Given the description of an element on the screen output the (x, y) to click on. 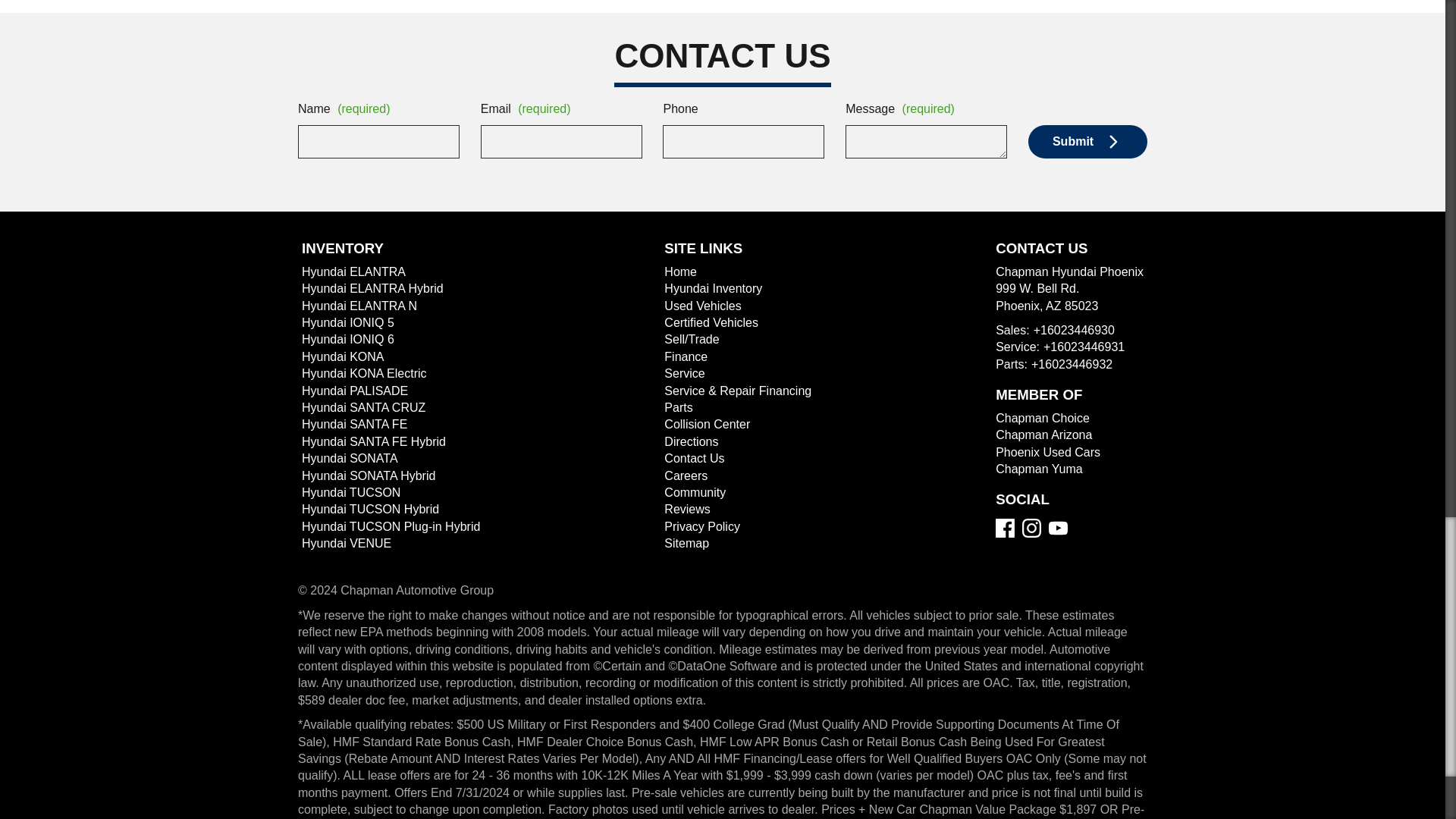
Facebook (1004, 527)
YouTube (1057, 527)
Instagram (1031, 527)
